Given the description of an element on the screen output the (x, y) to click on. 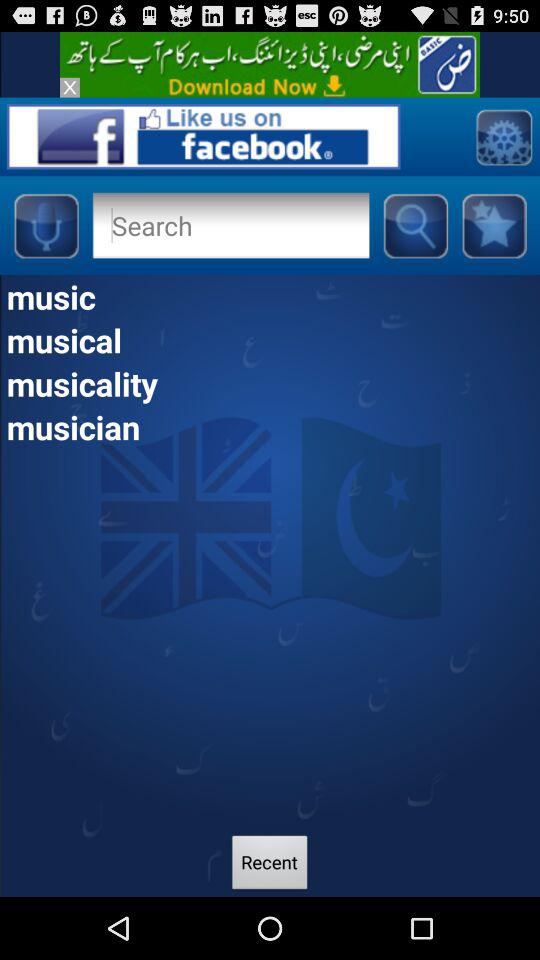
toggle microphone option (45, 225)
